Given the description of an element on the screen output the (x, y) to click on. 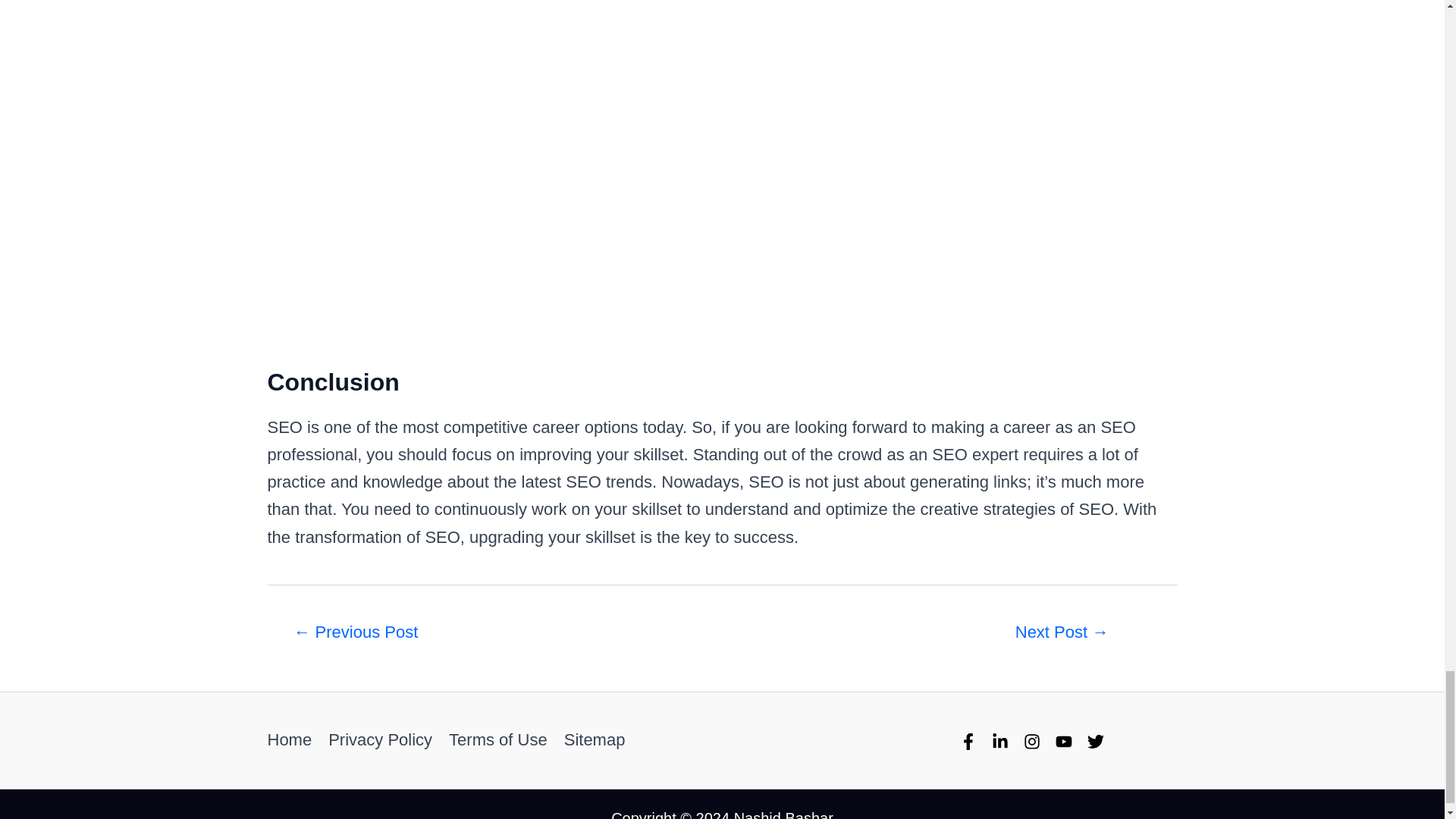
Tips To Properly Leverage Your Amazon SEO Campaign (354, 632)
Definitive Guide on National SEO (1060, 632)
